Given the description of an element on the screen output the (x, y) to click on. 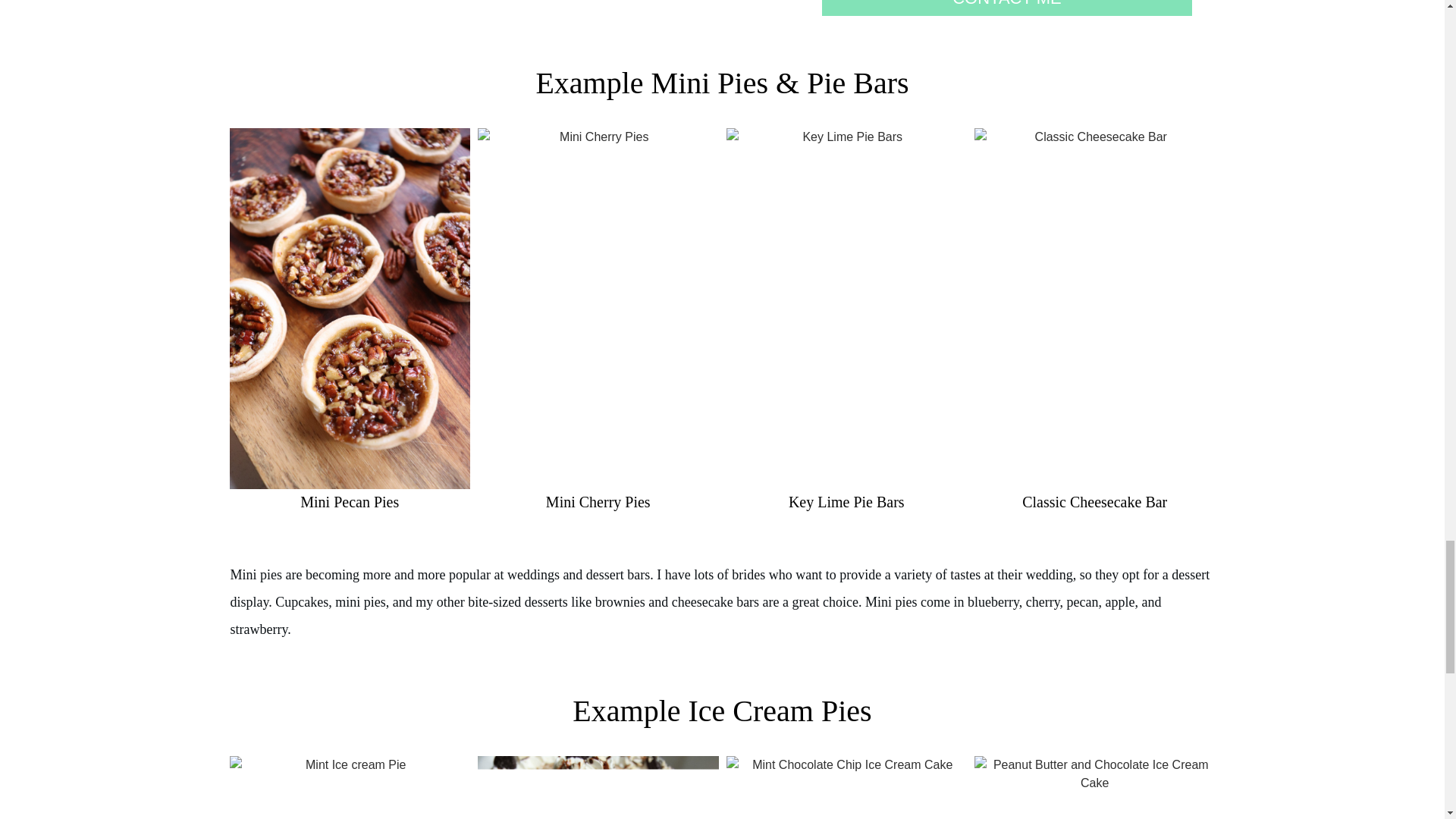
CONTACT ME (1007, 7)
Jamoca Almond Fudge Ice Cream Pie (598, 787)
Mint Ice cream Pie (349, 787)
CONTACT ME (1007, 7)
